Given the description of an element on the screen output the (x, y) to click on. 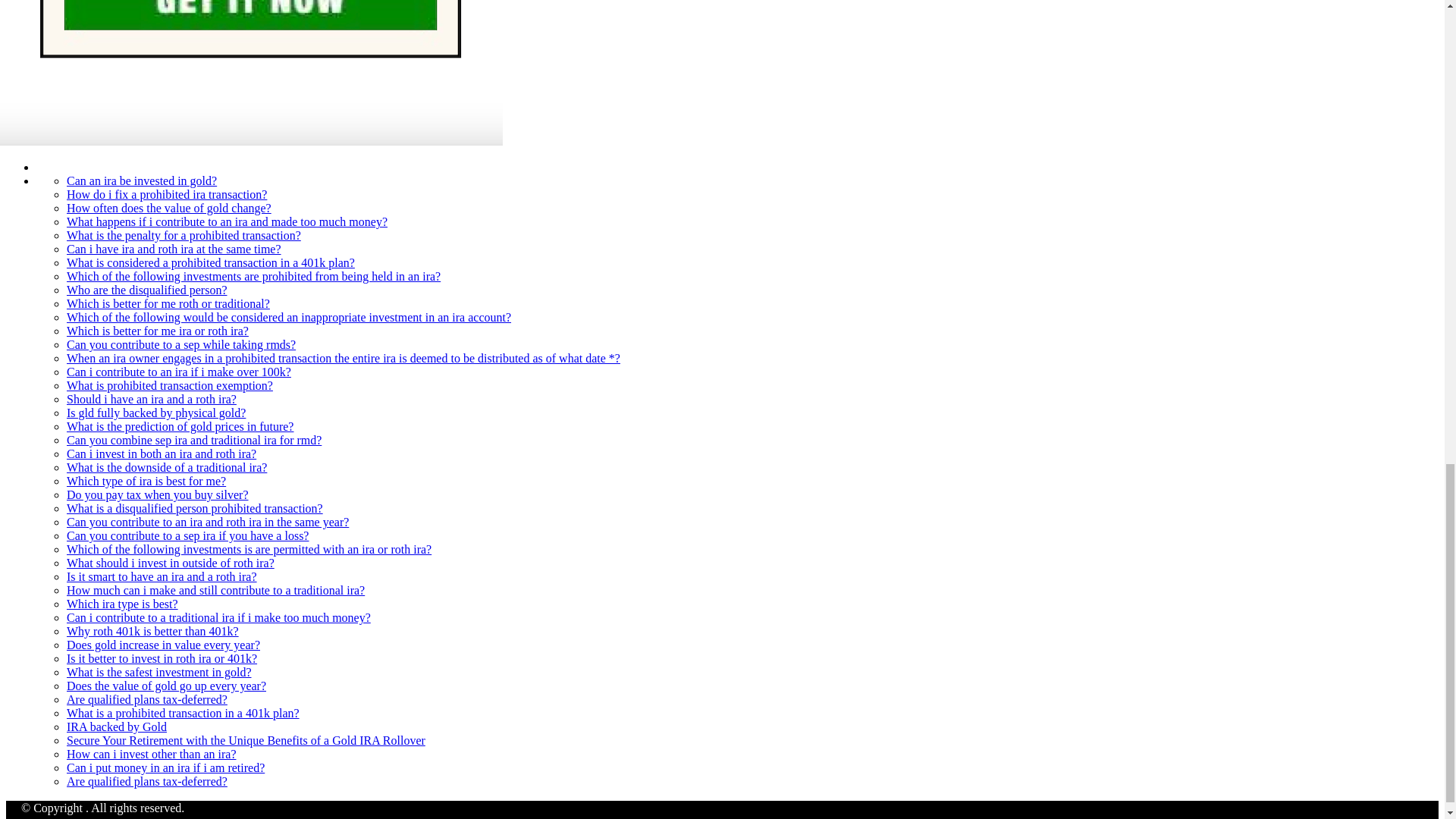
What is prohibited transaction exemption? (169, 385)
Can you contribute to an ira and roth ira in the same year? (207, 521)
Can an ira be invested in gold? (141, 180)
Should i have an ira and a roth ira? (150, 399)
Which is better for me roth or traditional? (167, 303)
Which type of ira is best for me? (145, 481)
How often does the value of gold change? (168, 207)
Which ira type is best? (121, 603)
What is considered a prohibited transaction in a 401k plan? (210, 262)
Can you combine sep ira and traditional ira for rmd? (193, 440)
What is a disqualified person prohibited transaction? (194, 508)
What should i invest in outside of roth ira? (170, 562)
Can i invest in both an ira and roth ira? (161, 453)
Which is better for me ira or roth ira? (157, 330)
